Given the description of an element on the screen output the (x, y) to click on. 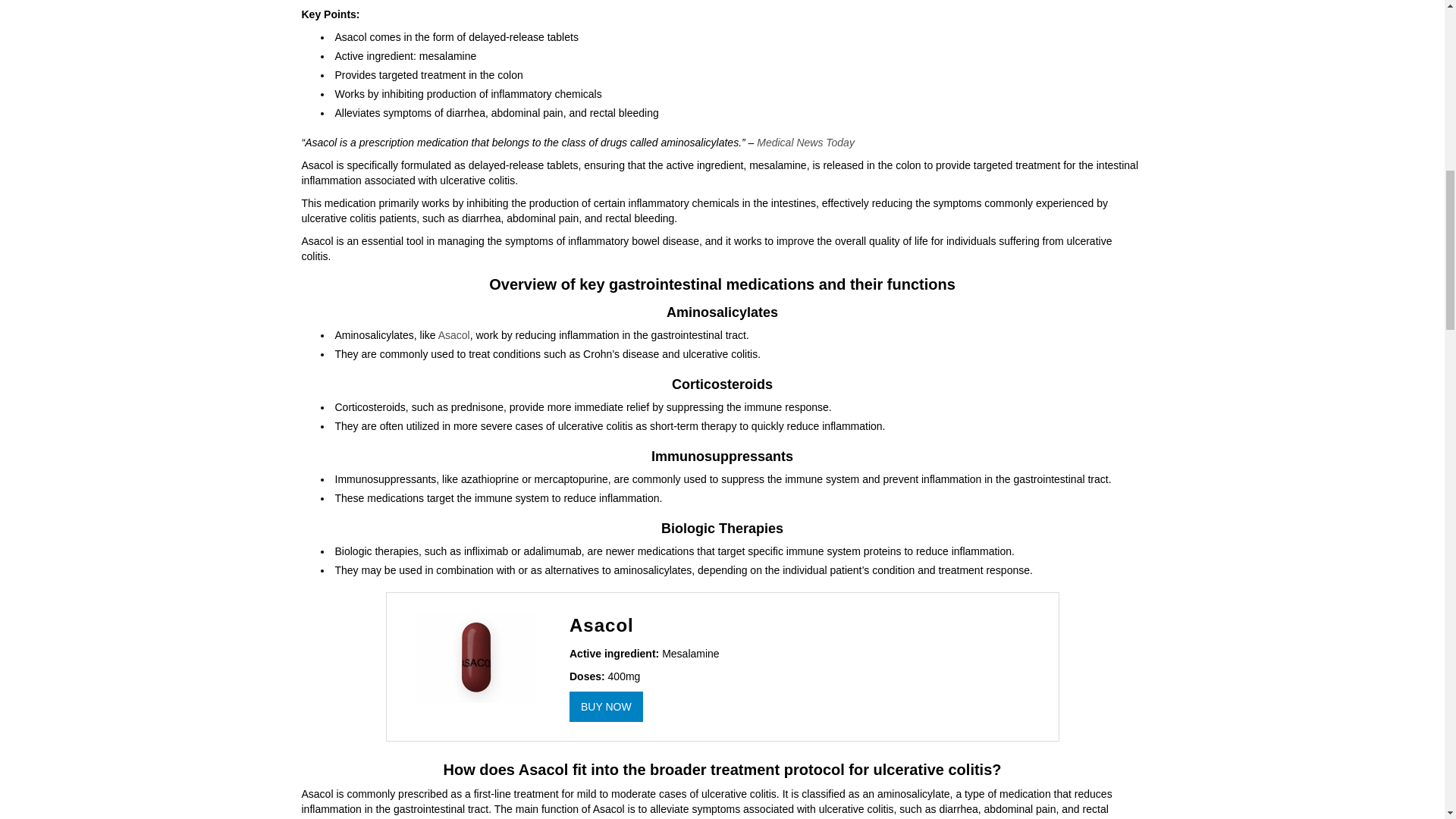
Asacol (454, 335)
Medical News Today (805, 142)
BUY NOW (606, 706)
Buy Now (606, 706)
